Given the description of an element on the screen output the (x, y) to click on. 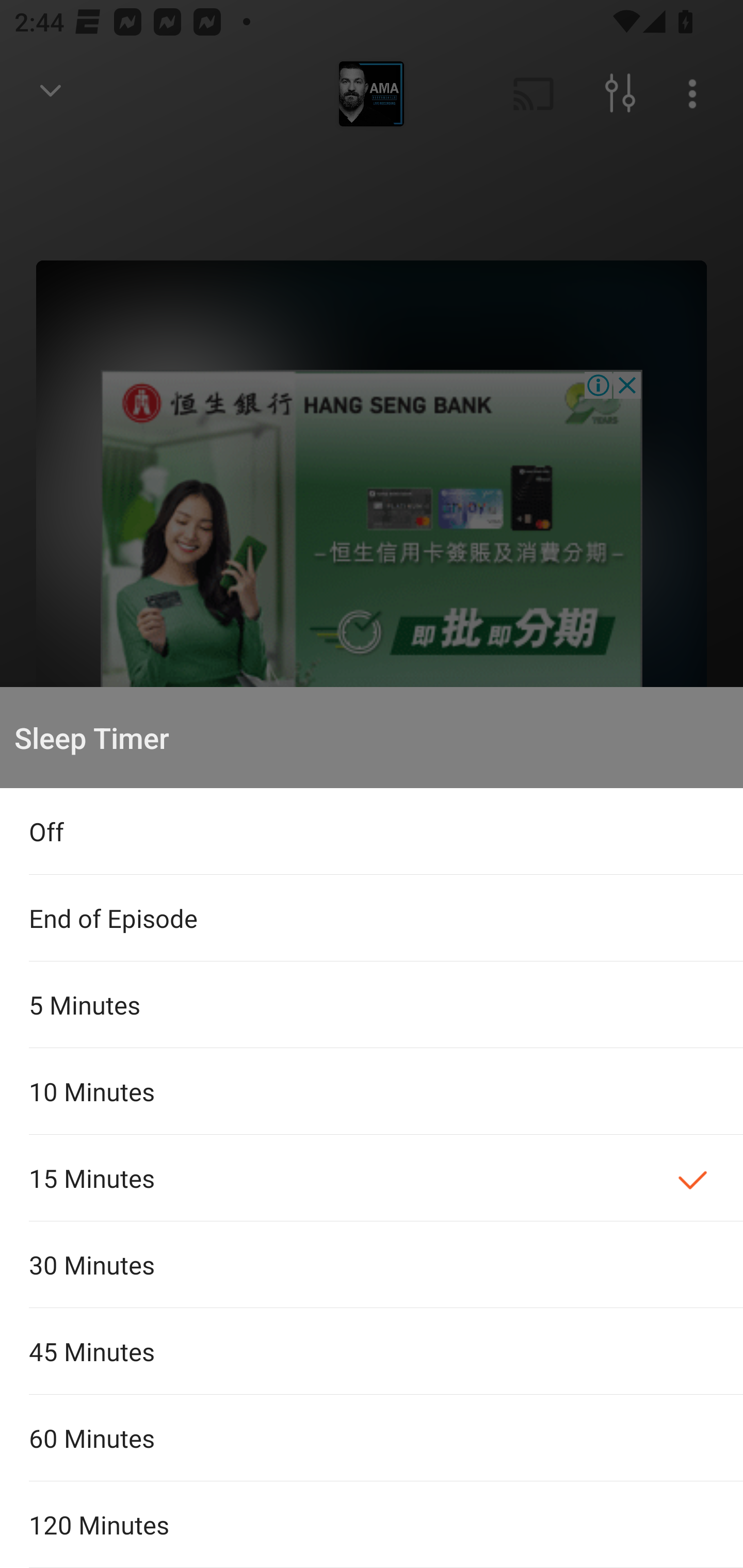
Off (371, 831)
End of Episode (371, 917)
5 Minutes (371, 1004)
10 Minutes (371, 1091)
15 Minutes (371, 1178)
30 Minutes (371, 1264)
45 Minutes (371, 1350)
60 Minutes (371, 1437)
120 Minutes (371, 1524)
